Given the description of an element on the screen output the (x, y) to click on. 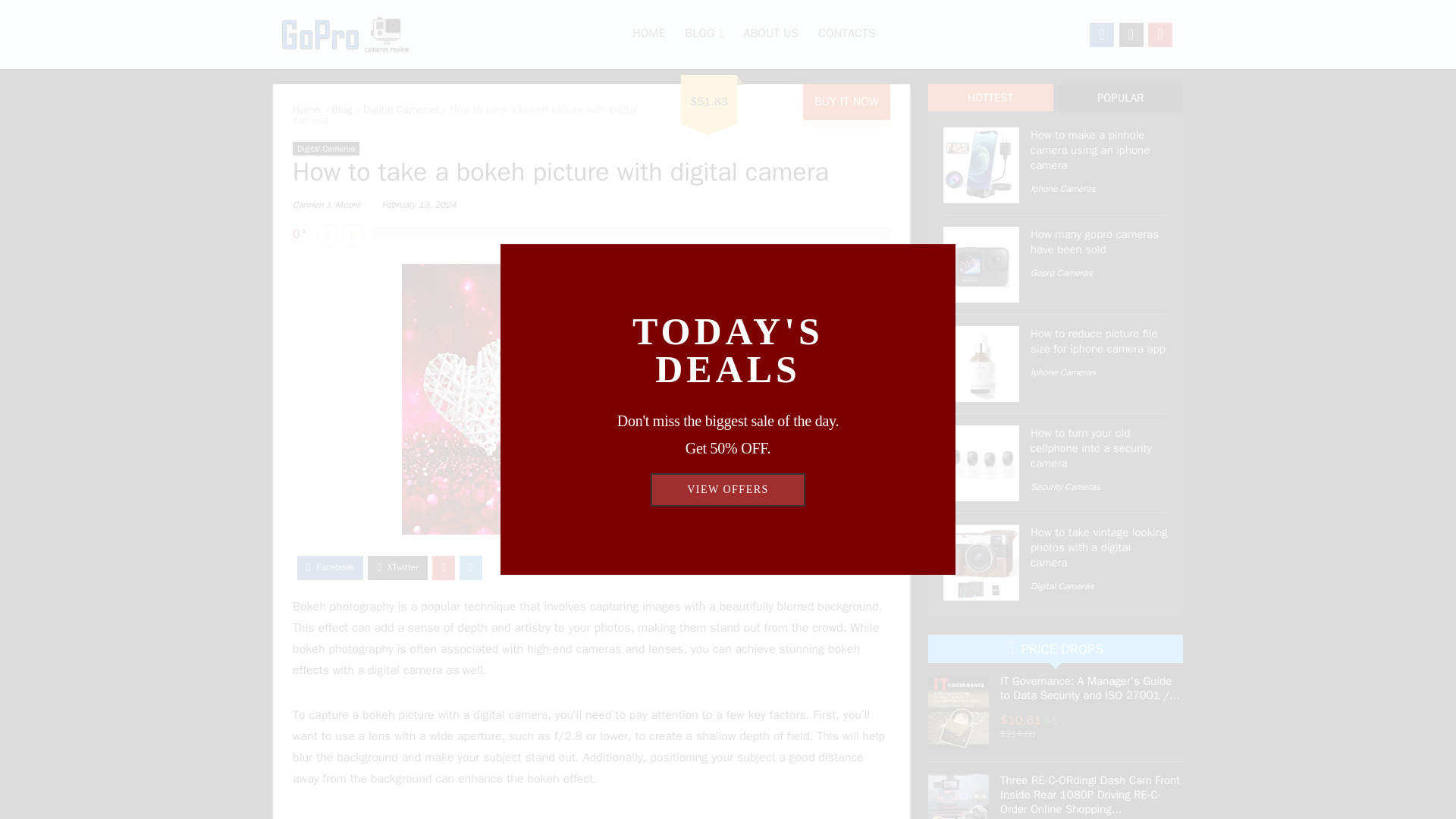
View all posts in Digital Cameras (325, 148)
BUY IT NOW (846, 101)
HOME (649, 34)
ABOUT US (770, 34)
as of July 18, 8173 5:20 pm (1054, 720)
Carmen J. Moore (325, 204)
BLOG (704, 34)
Vote down (327, 234)
Digital Cameras (400, 109)
CONTACTS (846, 34)
Digital Cameras (325, 148)
Blog (341, 109)
Home (306, 109)
Vote up (352, 234)
